Given the description of an element on the screen output the (x, y) to click on. 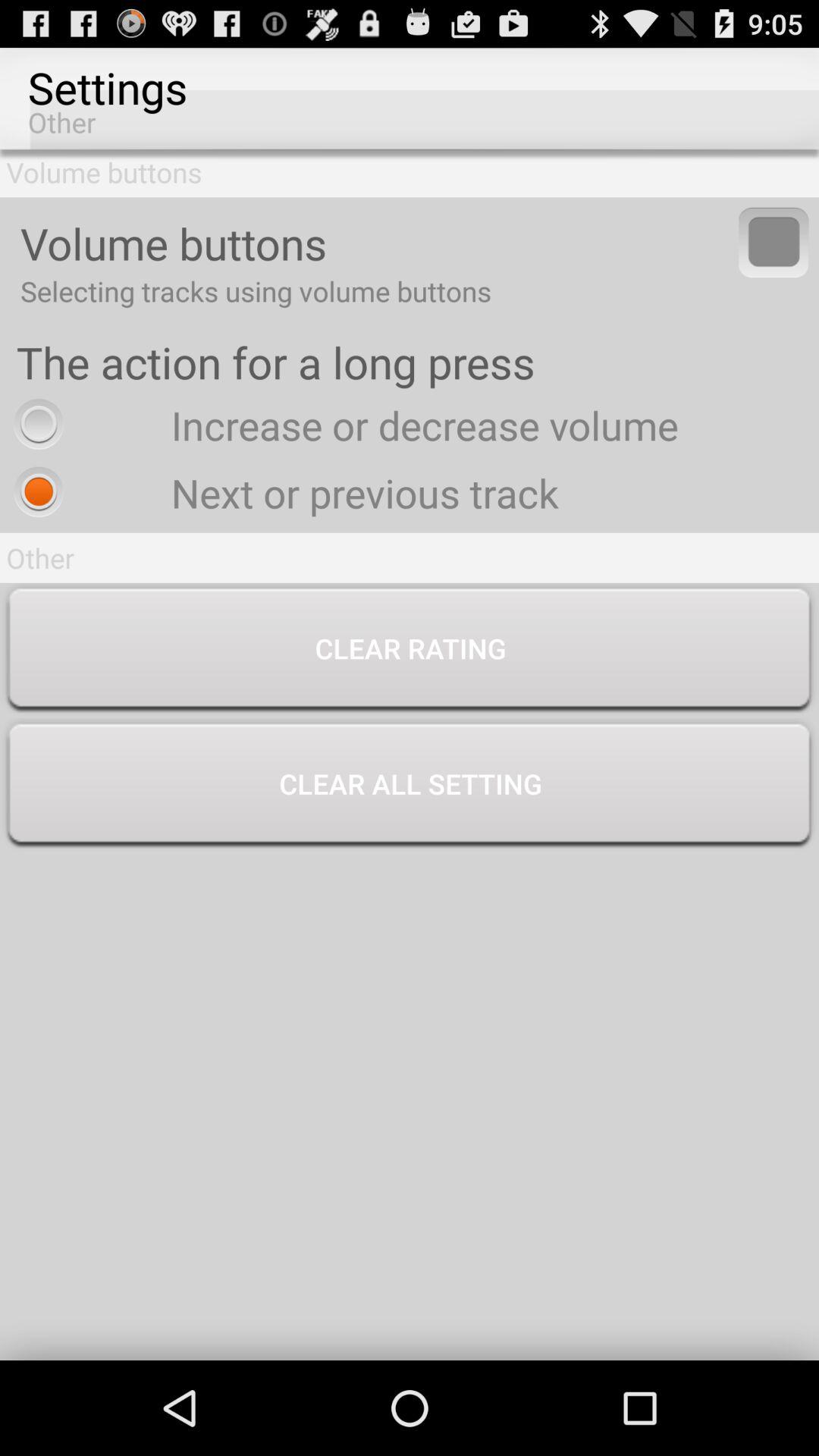
choose the icon to the right of volume buttons (773, 242)
